Given the description of an element on the screen output the (x, y) to click on. 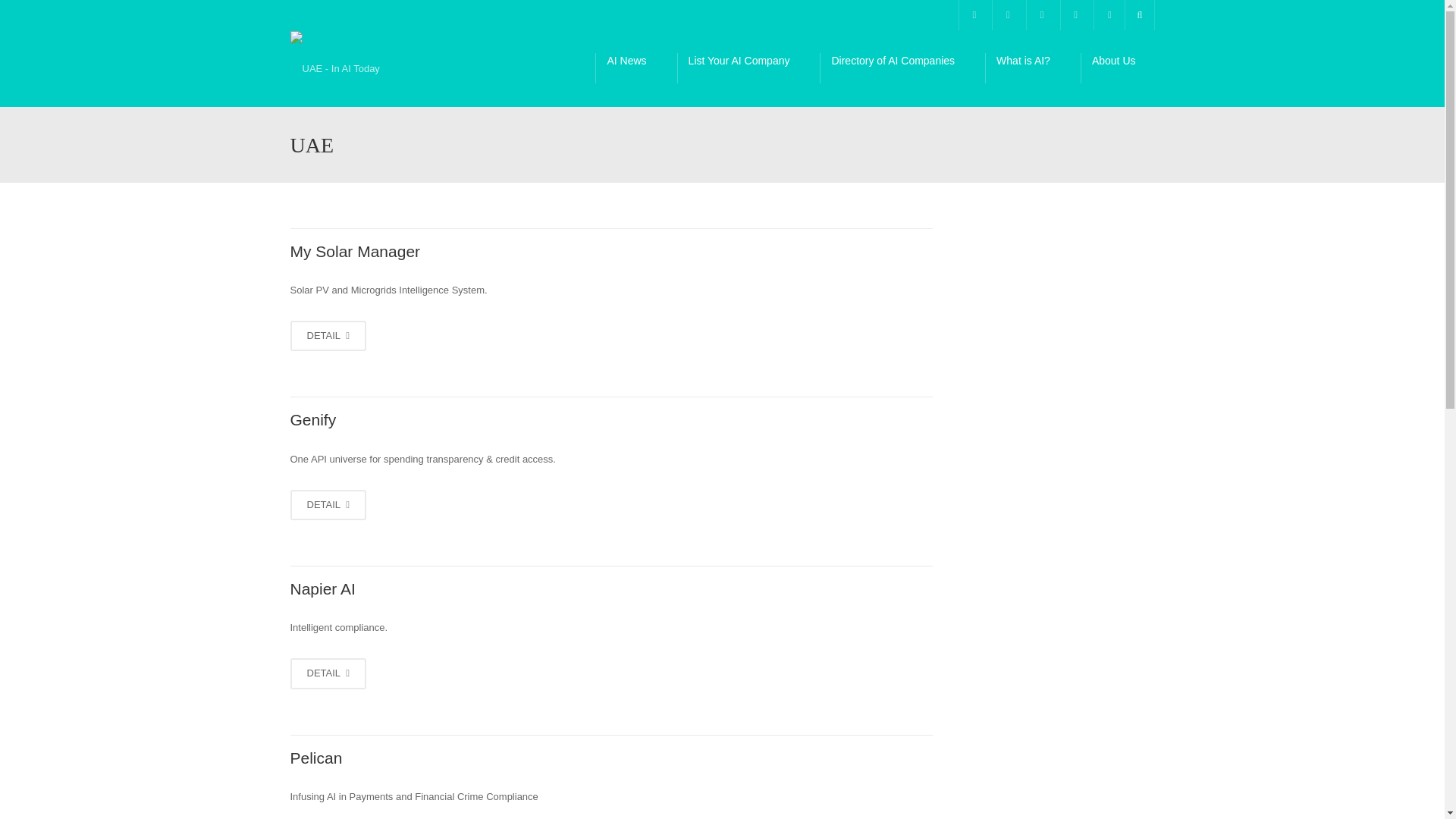
My Solar Manager (327, 336)
My Solar Manager (354, 251)
Genify (312, 419)
About Us (1123, 68)
Napier AI (322, 588)
UAE - In AI Today (333, 67)
What is AI? (1032, 68)
Pelican (315, 757)
Napier AI (327, 673)
Pelican (315, 757)
